Given the description of an element on the screen output the (x, y) to click on. 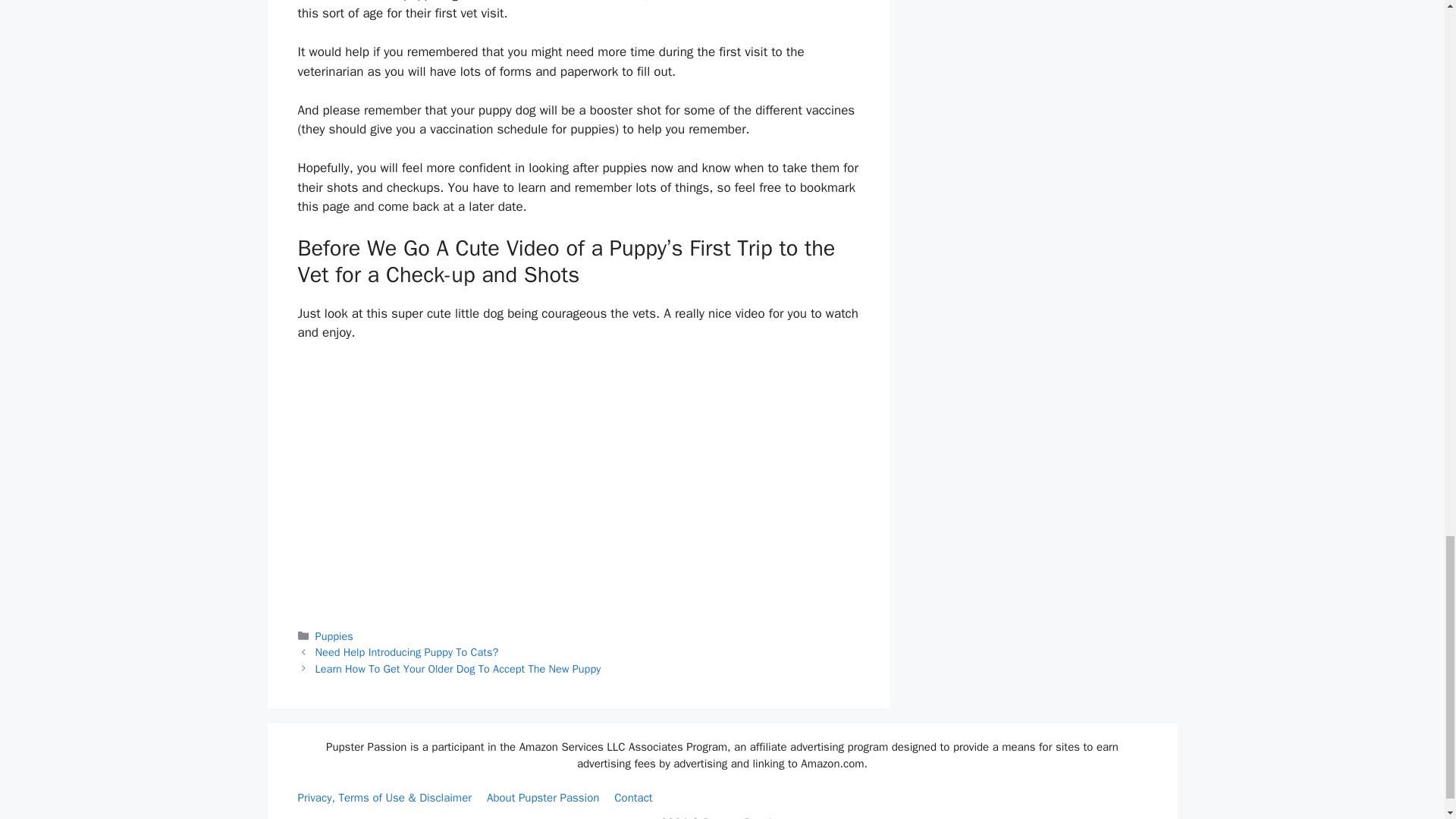
Learn How To Get Your Older Dog To Accept The New Puppy (458, 668)
Puppies (334, 635)
About Pupster Passion (542, 797)
Need Help Introducing Puppy To Cats? (407, 652)
Contact (633, 797)
